Given the description of an element on the screen output the (x, y) to click on. 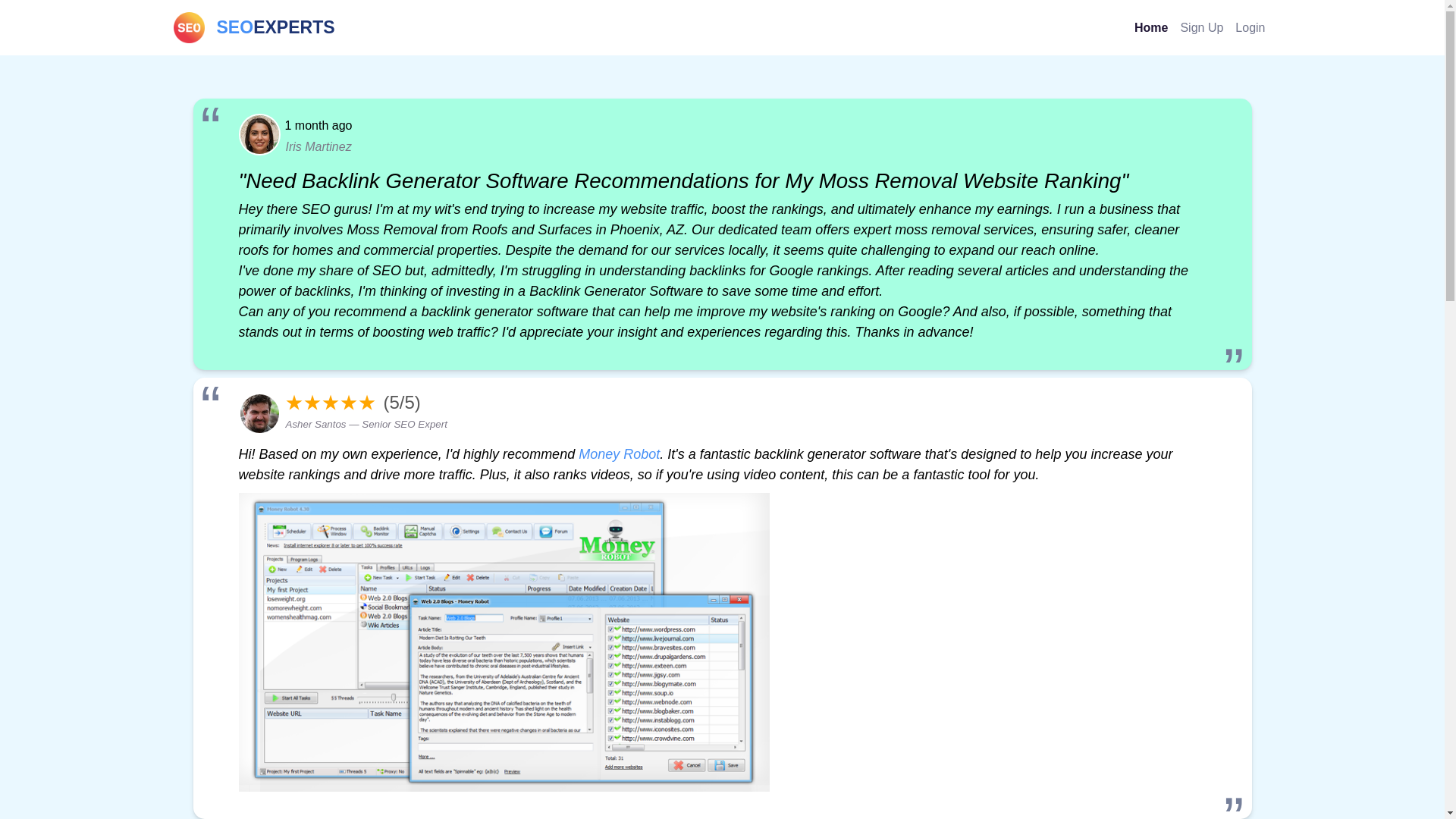
Home (1150, 27)
Sign Up (1200, 27)
Login (253, 27)
Money Robot (1249, 27)
